Given the description of an element on the screen output the (x, y) to click on. 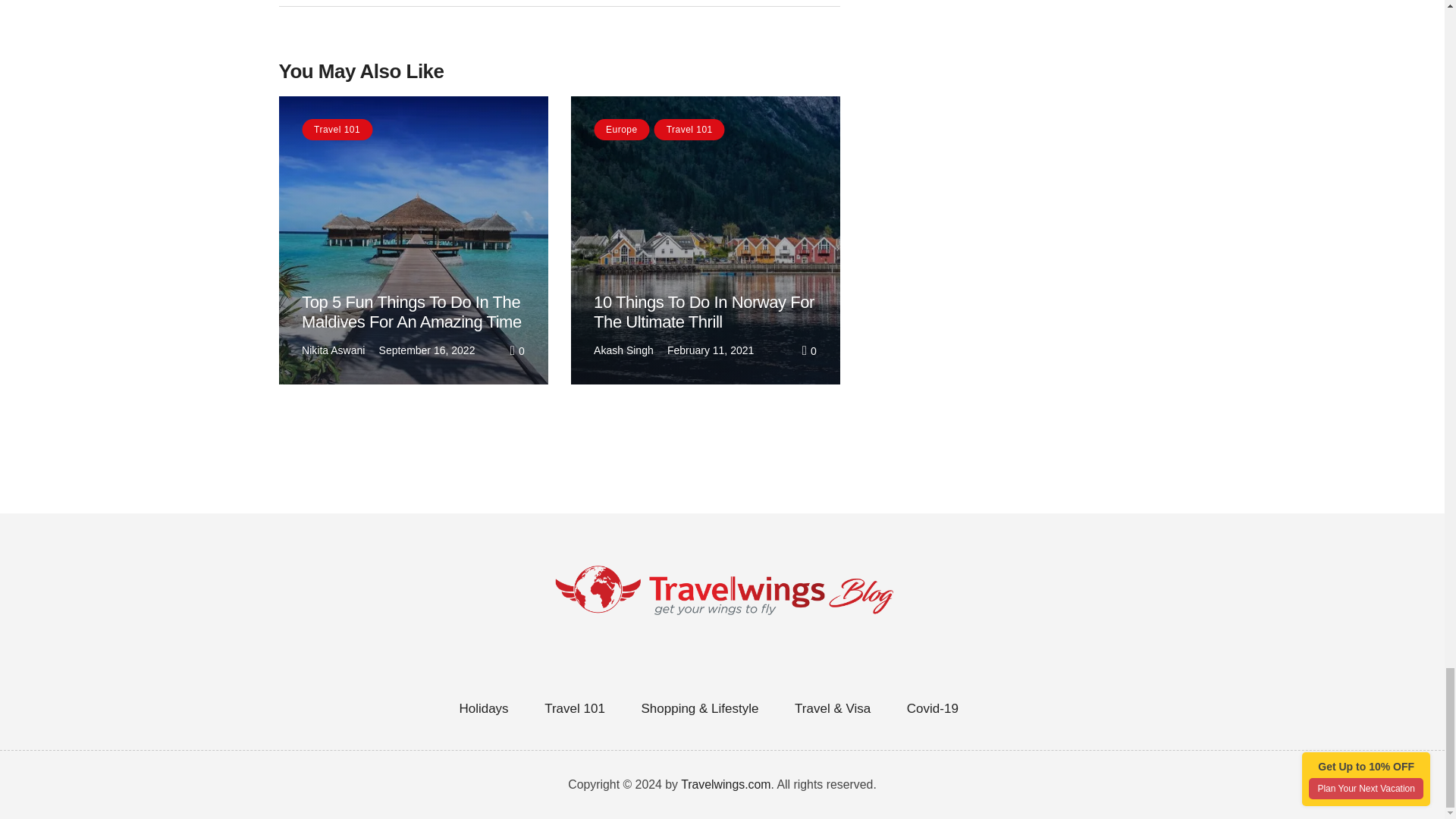
View all posts in Europe (621, 129)
View all posts in Travel 101 (689, 129)
View all posts in Travel 101 (336, 129)
